Given the description of an element on the screen output the (x, y) to click on. 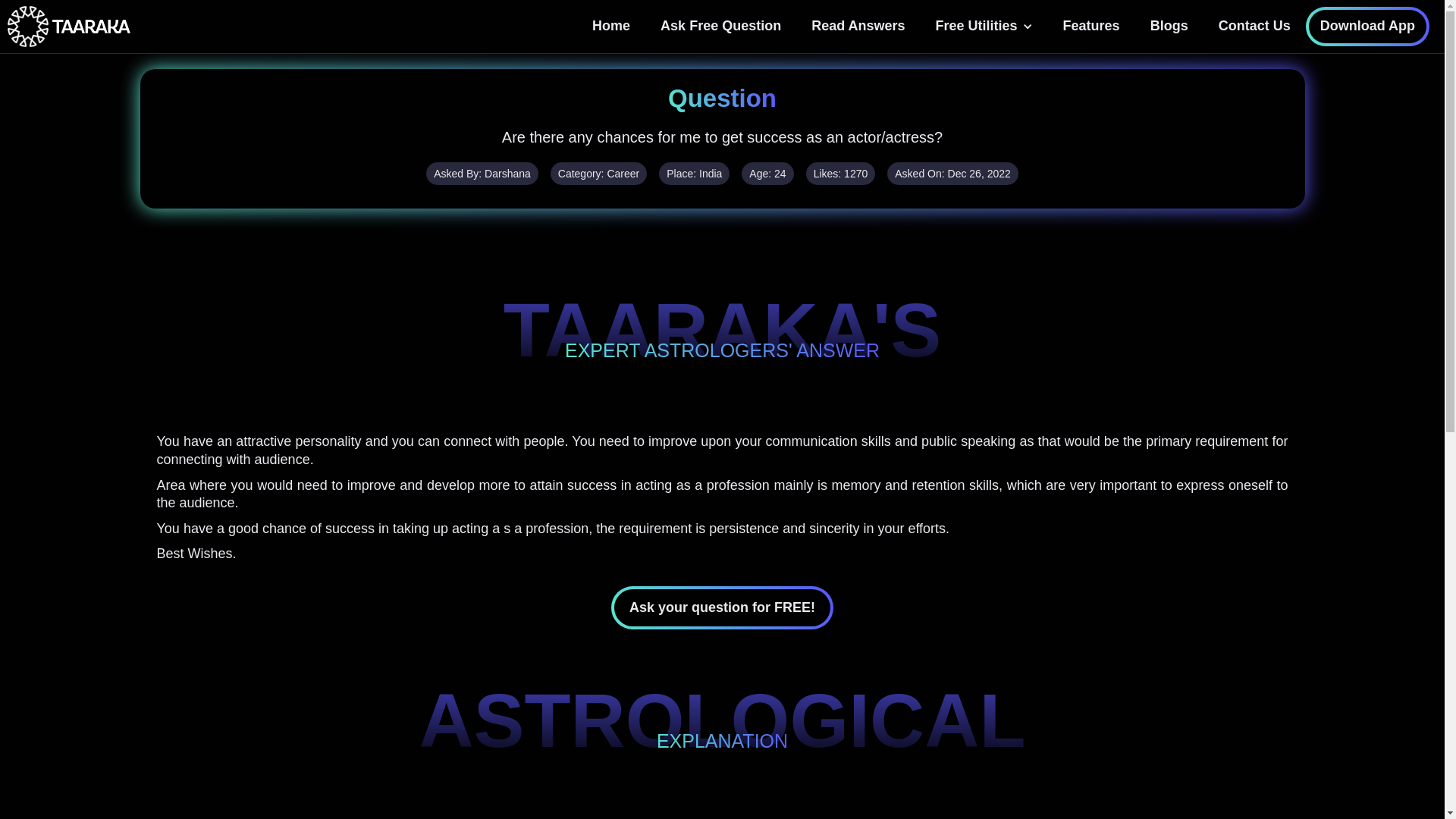
Read Answers (858, 25)
Contact Us (1255, 25)
Ask your question for FREE! (721, 607)
Blogs (1169, 25)
Features (1091, 25)
Download App (1367, 25)
Home (610, 25)
Ask Free Question (720, 25)
